Given the description of an element on the screen output the (x, y) to click on. 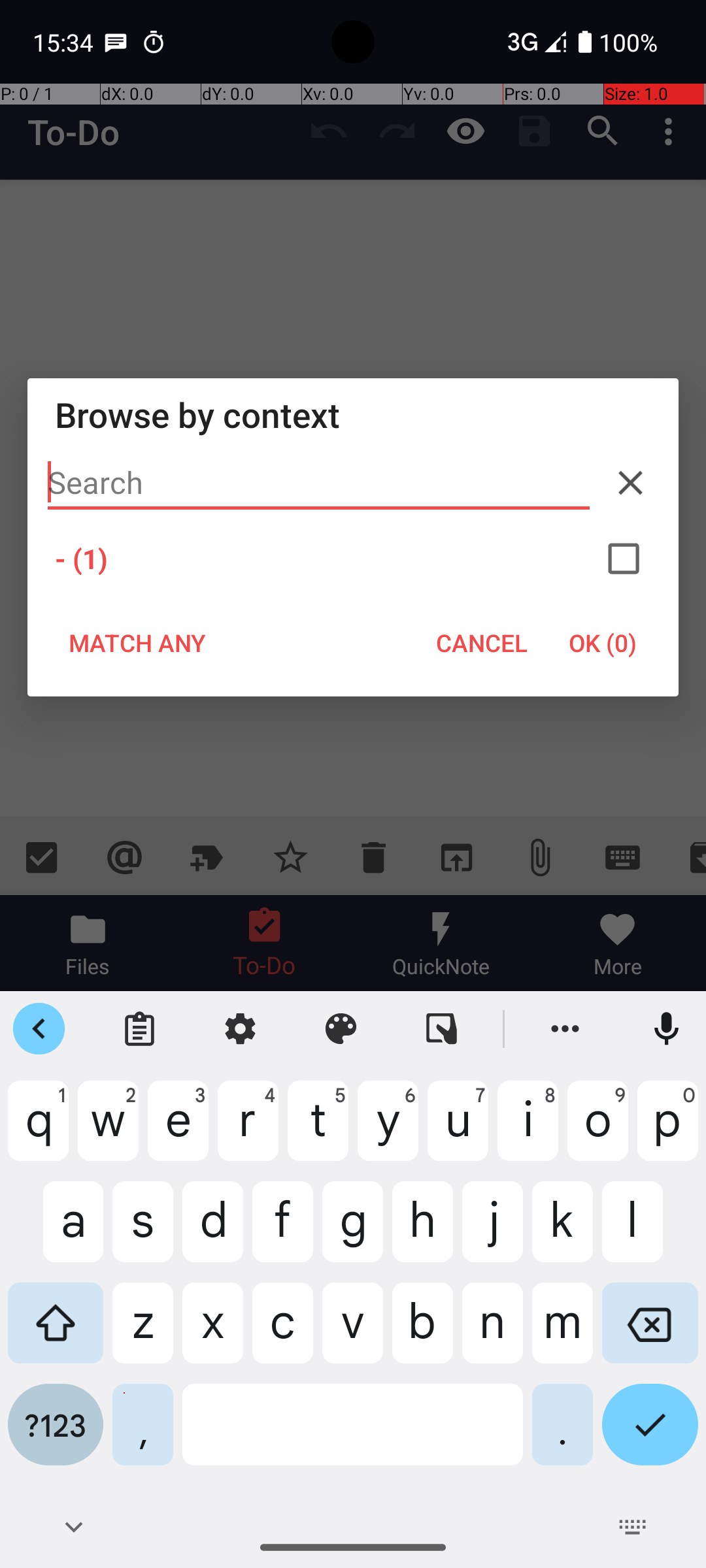
Browse by context Element type: android.widget.TextView (352, 414)
- (1) Element type: android.widget.CheckedTextView (352, 558)
MATCH ANY Element type: android.widget.Button (137, 642)
OK (0) Element type: android.widget.Button (602, 642)
